Given the description of an element on the screen output the (x, y) to click on. 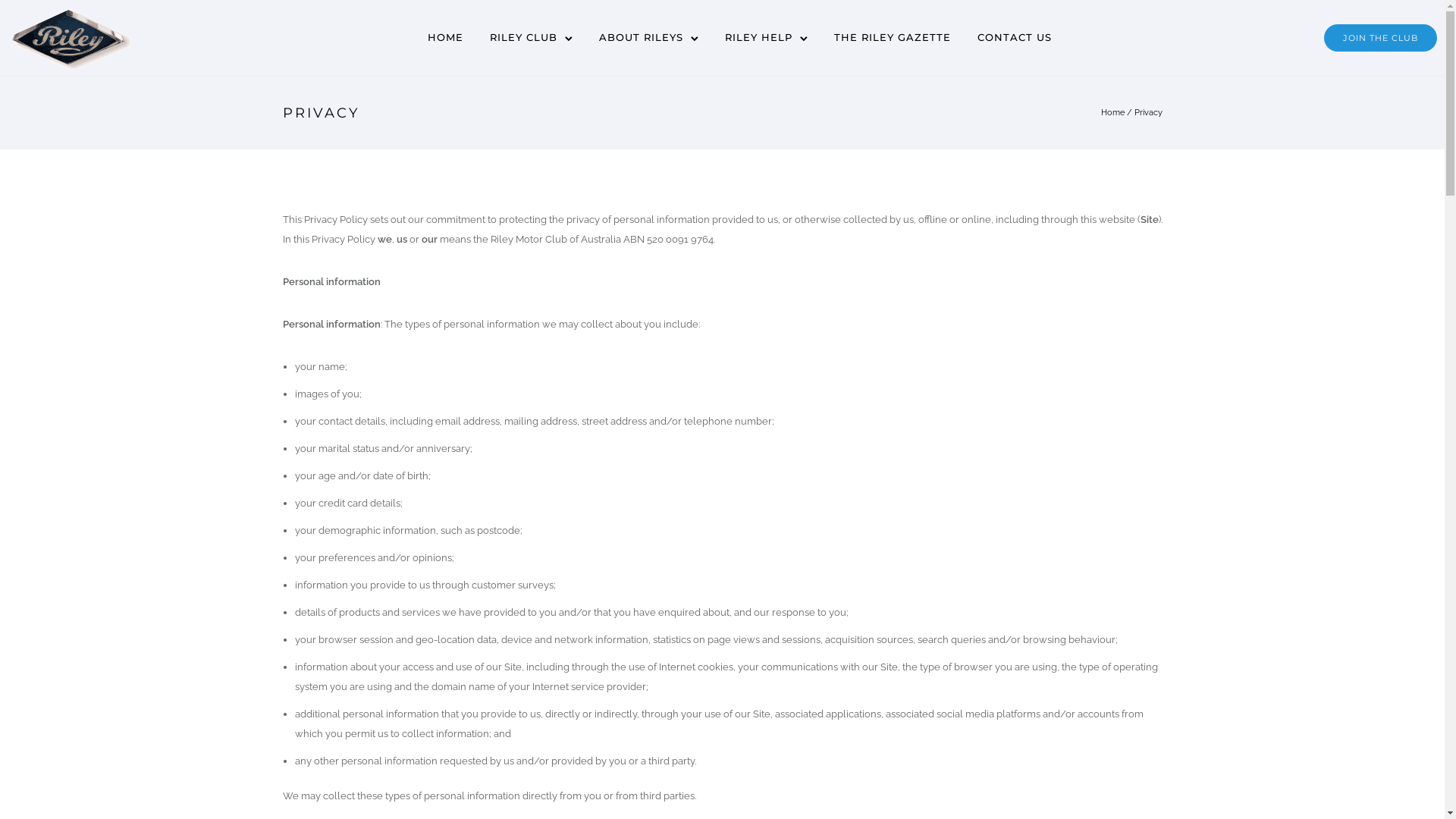
CONTACT US Element type: text (1014, 36)
HOME Element type: text (445, 36)
Home Element type: text (1112, 112)
RILEY CLUB Element type: text (523, 36)
ABOUT RILEYS Element type: text (640, 36)
THE RILEY GAZETTE Element type: text (892, 36)
JOIN THE CLUB Element type: text (1380, 37)
RILEY HELP Element type: text (758, 36)
Privacy Element type: text (1148, 112)
